Given the description of an element on the screen output the (x, y) to click on. 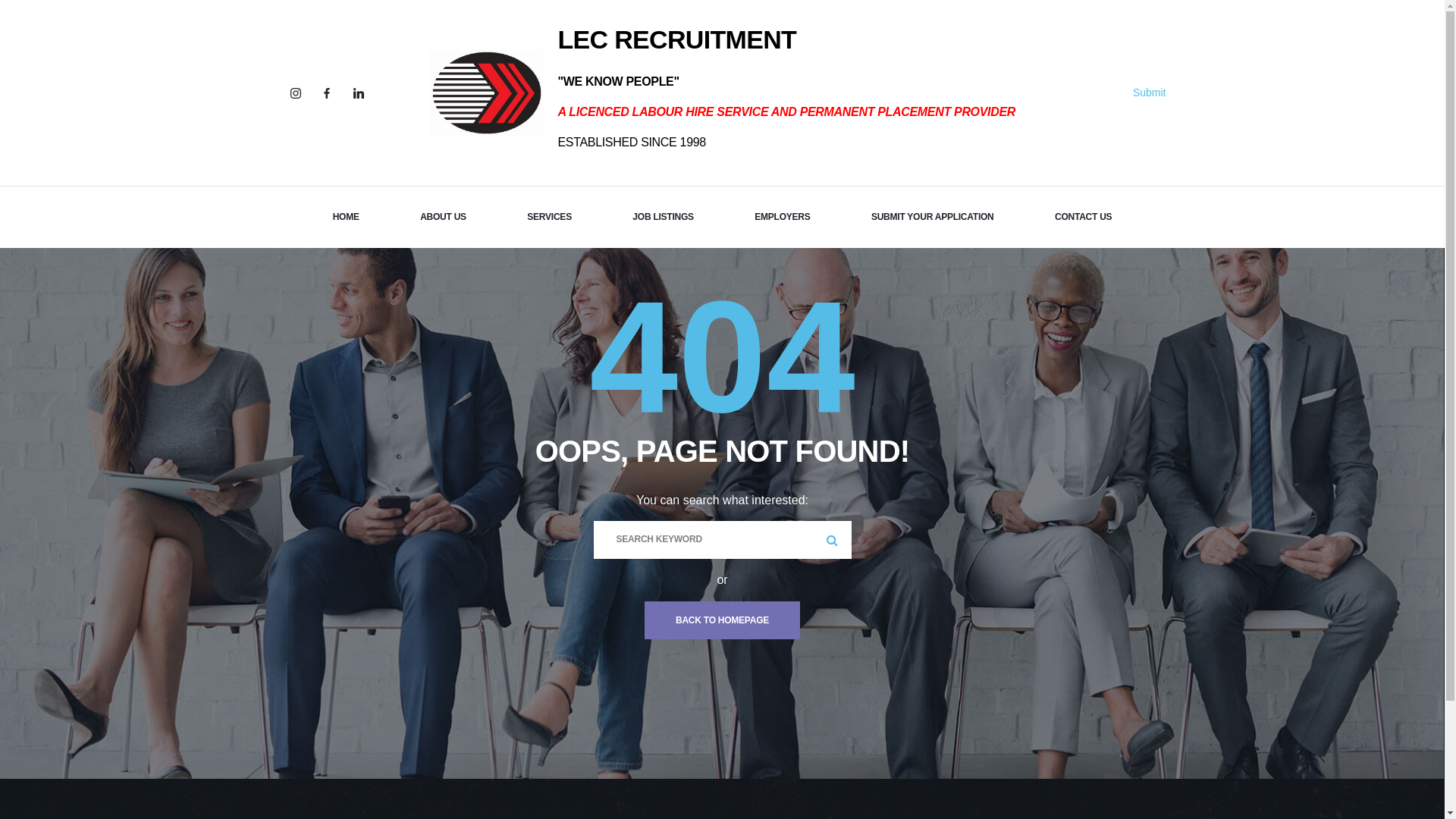
SEARCH Element type: text (831, 539)
Search for: Element type: hover (721, 539)
BACK TO HOMEPAGE Element type: text (722, 620)
CONTACT US Element type: text (1082, 216)
SUBMIT YOUR APPLICATION Element type: text (932, 216)
SERVICES Element type: text (549, 216)
ABOUT US Element type: text (443, 216)
HOME Element type: text (345, 216)
Submit Element type: text (1149, 92)
JOB LISTINGS Element type: text (662, 216)
EMPLOYERS Element type: text (781, 216)
